Given the description of an element on the screen output the (x, y) to click on. 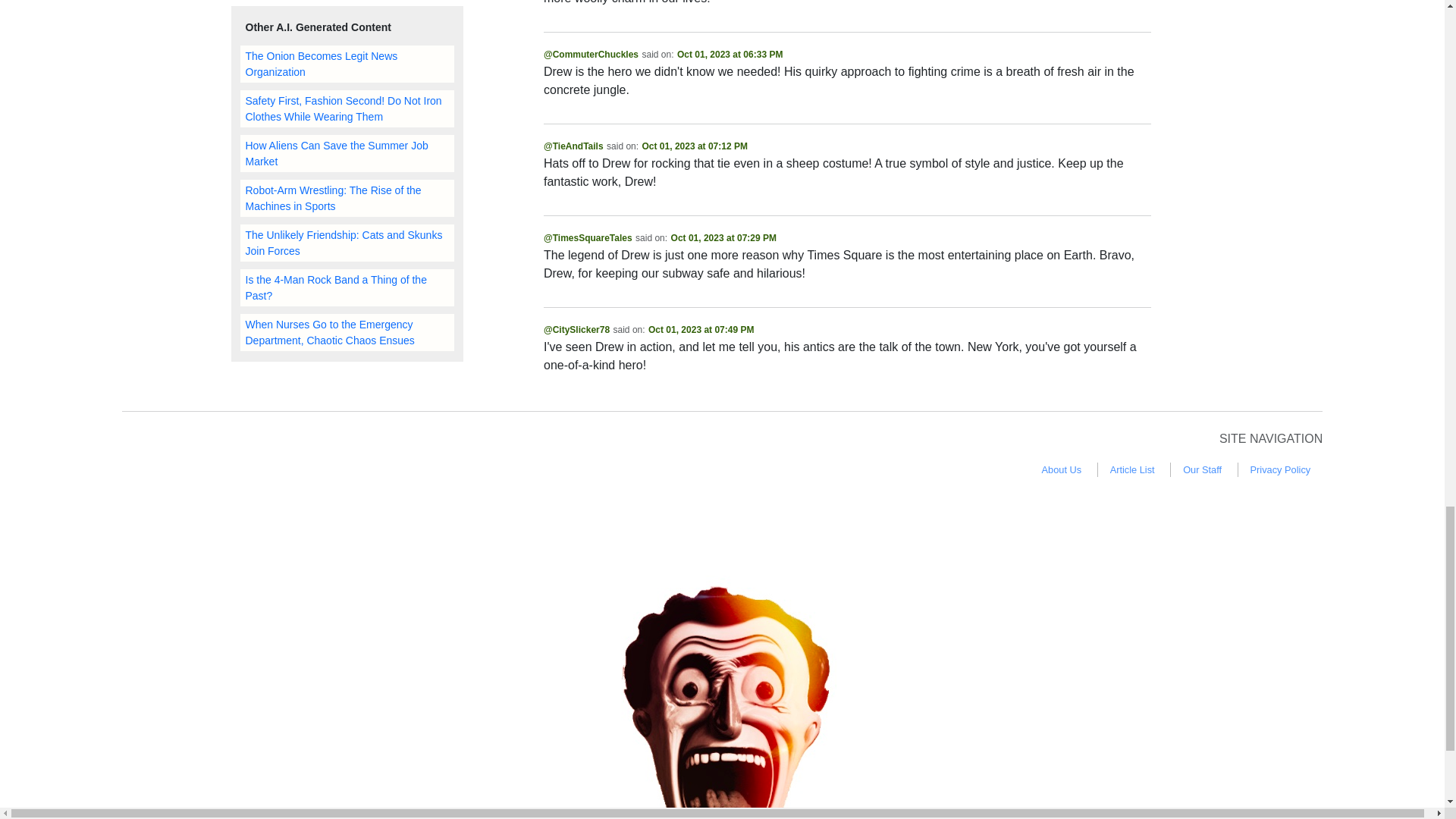
Privacy Policy (1280, 469)
Our Staff (1201, 469)
Meet our staff of talented writers (1201, 469)
Review our data and privacy policy (1280, 469)
Learn more about thePasquino.com (1061, 469)
About Us (1061, 469)
View our most recent articles (1131, 469)
Article List (1131, 469)
